Given the description of an element on the screen output the (x, y) to click on. 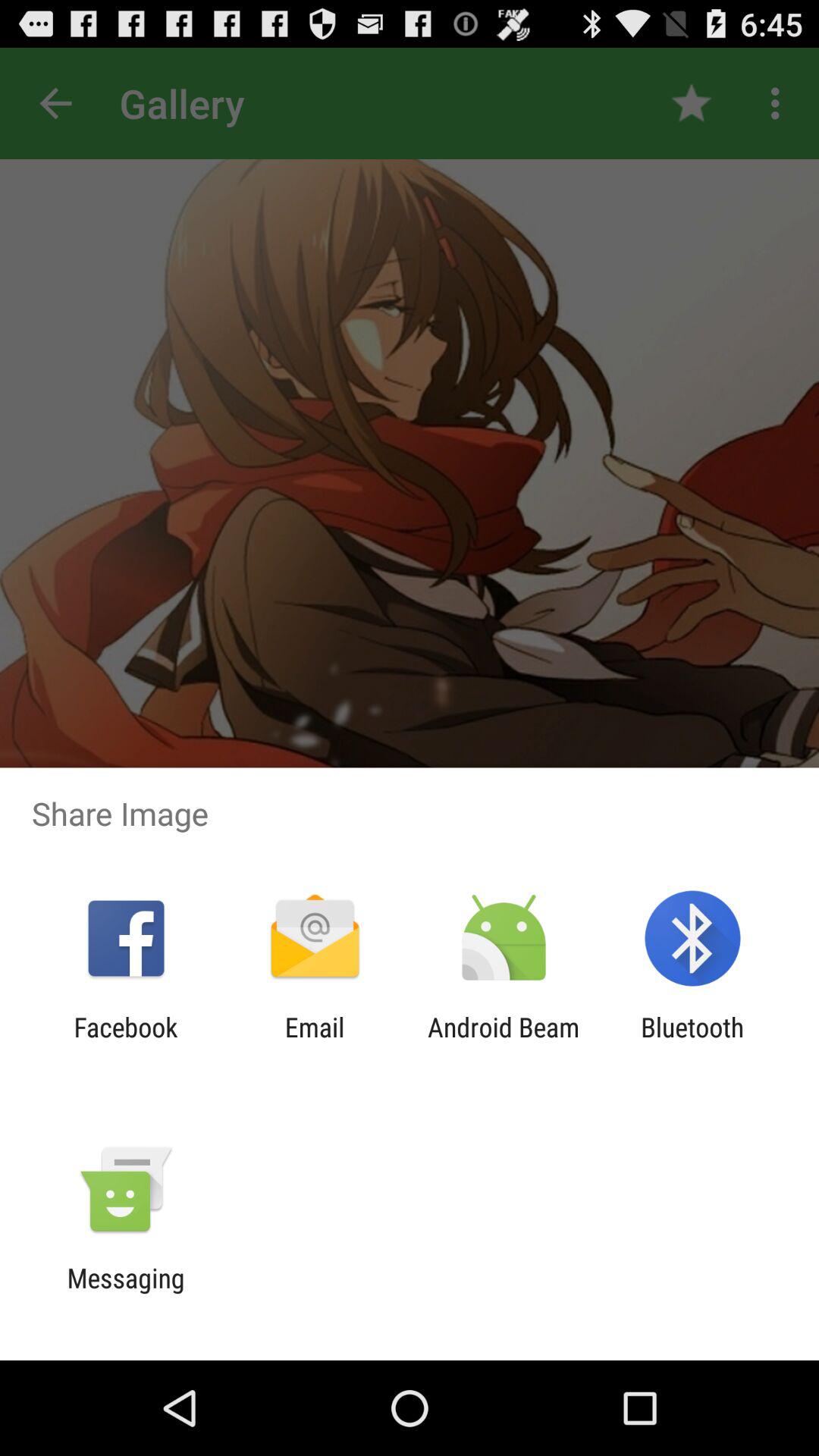
swipe until android beam app (503, 1042)
